Given the description of an element on the screen output the (x, y) to click on. 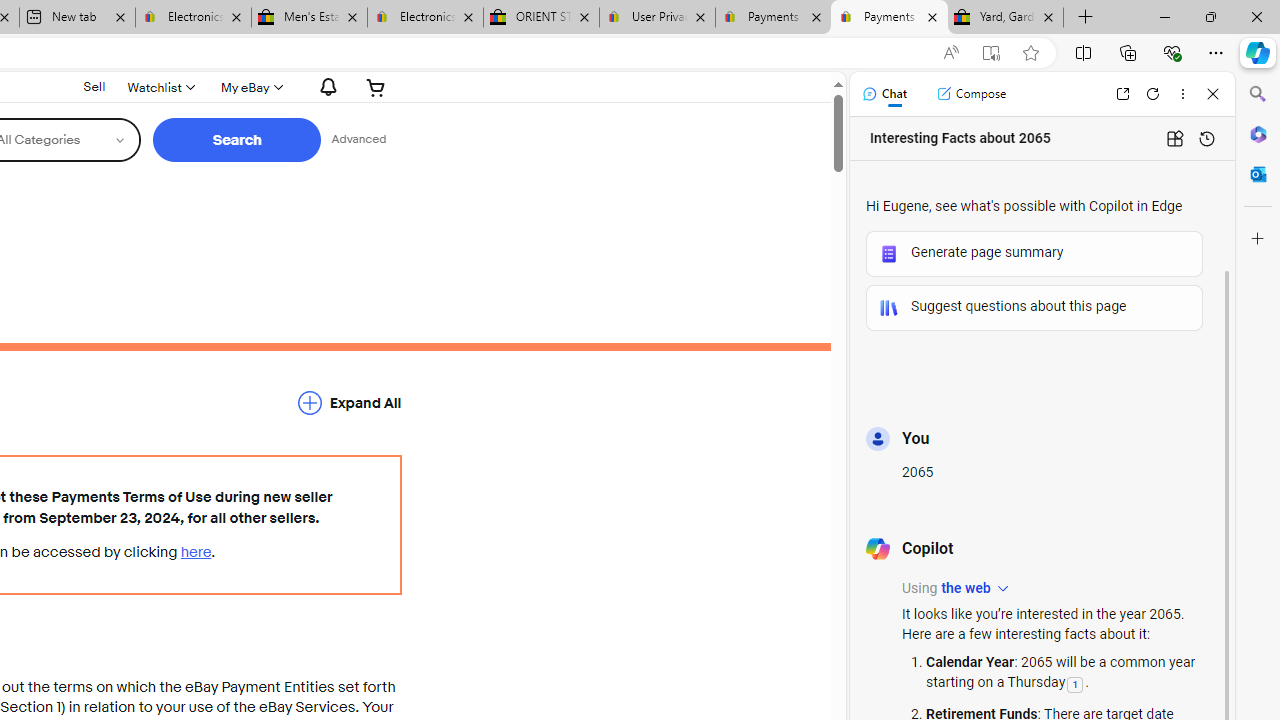
My eBay (249, 87)
Your shopping cart (376, 87)
Watchlist (159, 87)
